Given the description of an element on the screen output the (x, y) to click on. 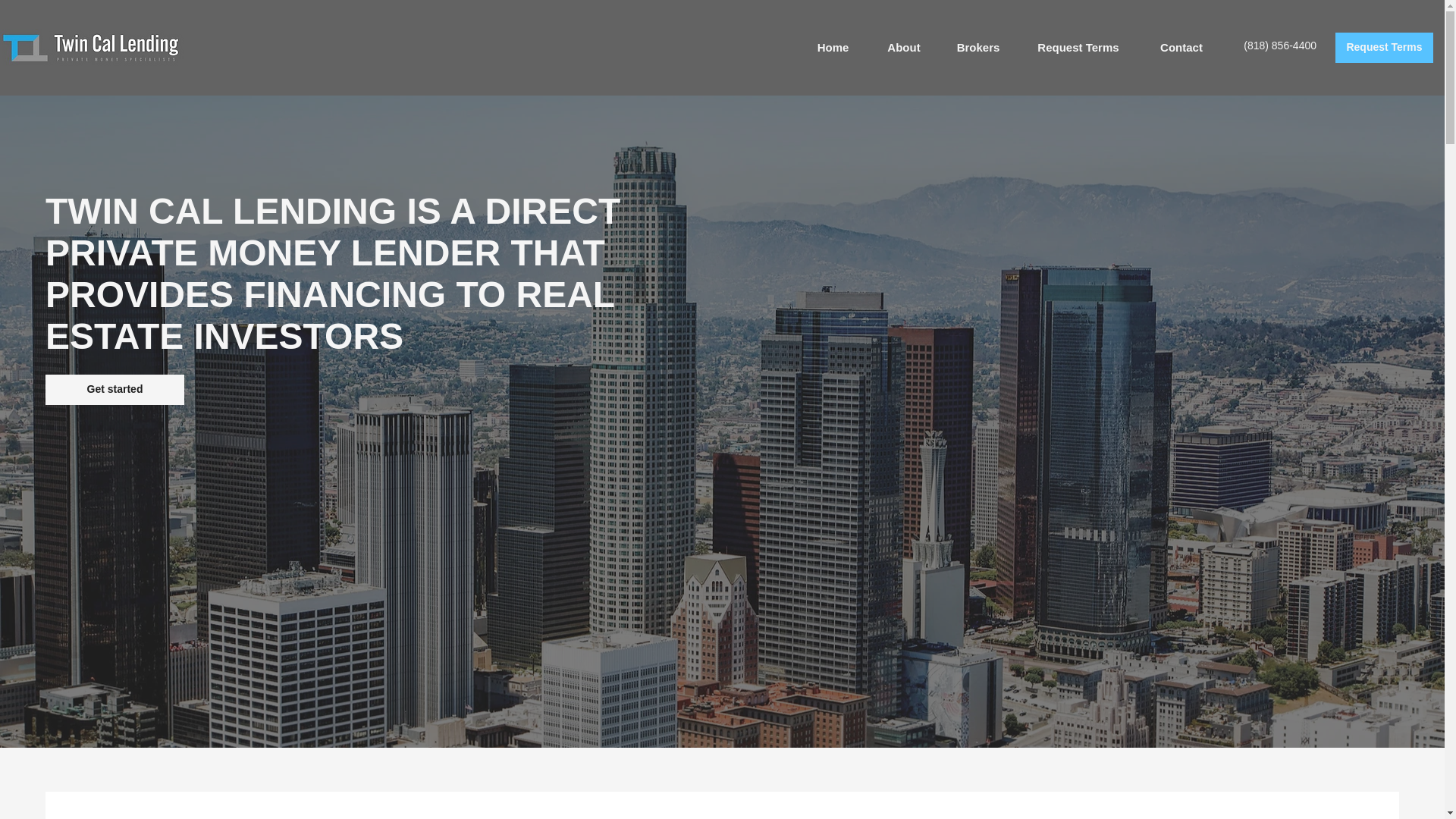
Request Terms (1078, 47)
Get started (114, 389)
Home (832, 47)
Request Terms (1383, 47)
Contact (1181, 47)
About (903, 47)
Brokers (977, 47)
